Given the description of an element on the screen output the (x, y) to click on. 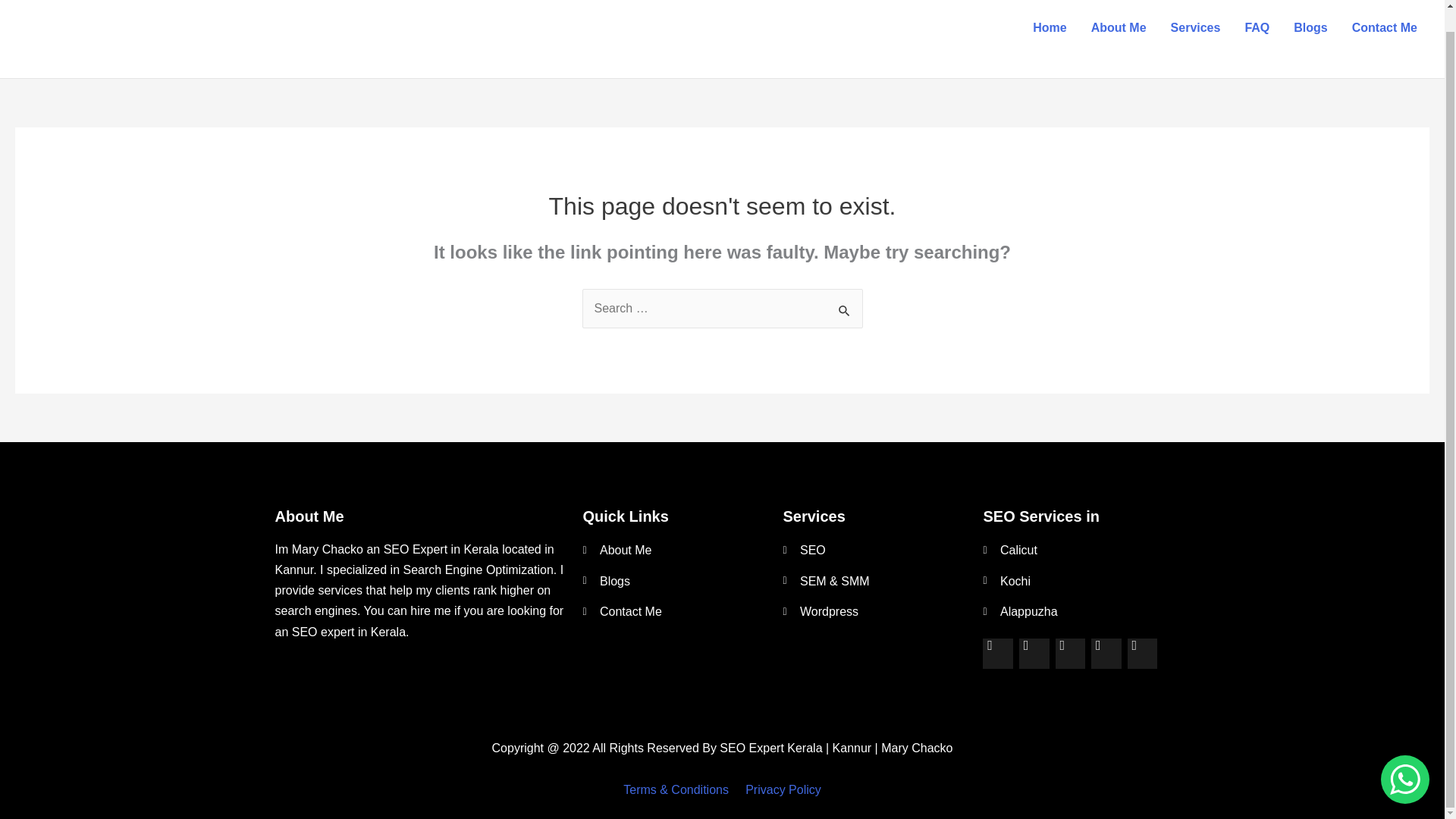
Home (1049, 29)
Blogs (674, 581)
Contact Me (674, 611)
About Me (1118, 29)
About Me (674, 549)
Blogs (1310, 29)
Contact Me (1384, 29)
Services (1195, 29)
Privacy Policy (783, 789)
Calicut (1074, 549)
